Given the description of an element on the screen output the (x, y) to click on. 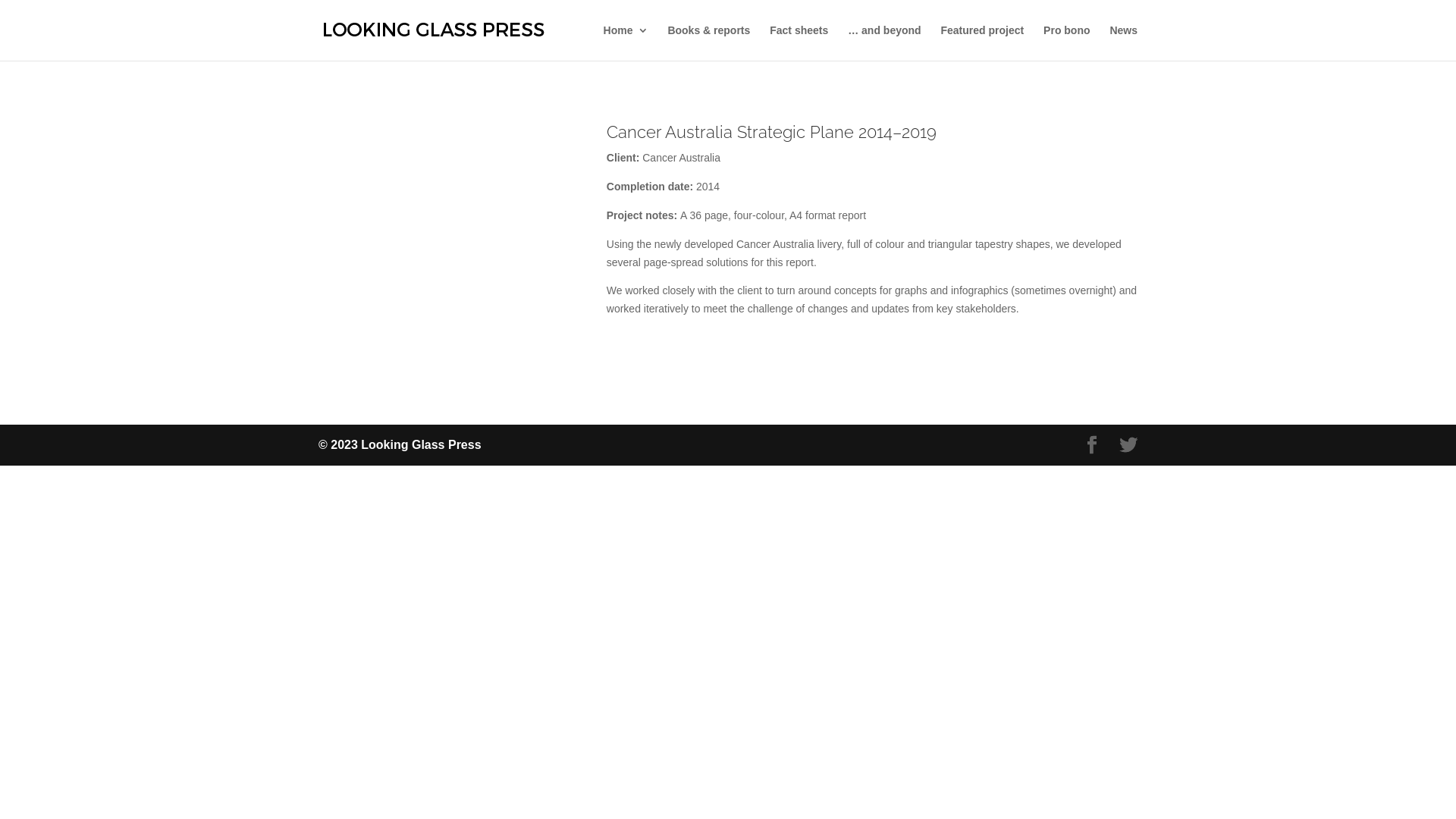
Home Element type: text (625, 42)
News Element type: text (1123, 42)
Books & reports Element type: text (708, 42)
Pro bono Element type: text (1066, 42)
Fact sheets Element type: text (798, 42)
Featured project Element type: text (981, 42)
